Given the description of an element on the screen output the (x, y) to click on. 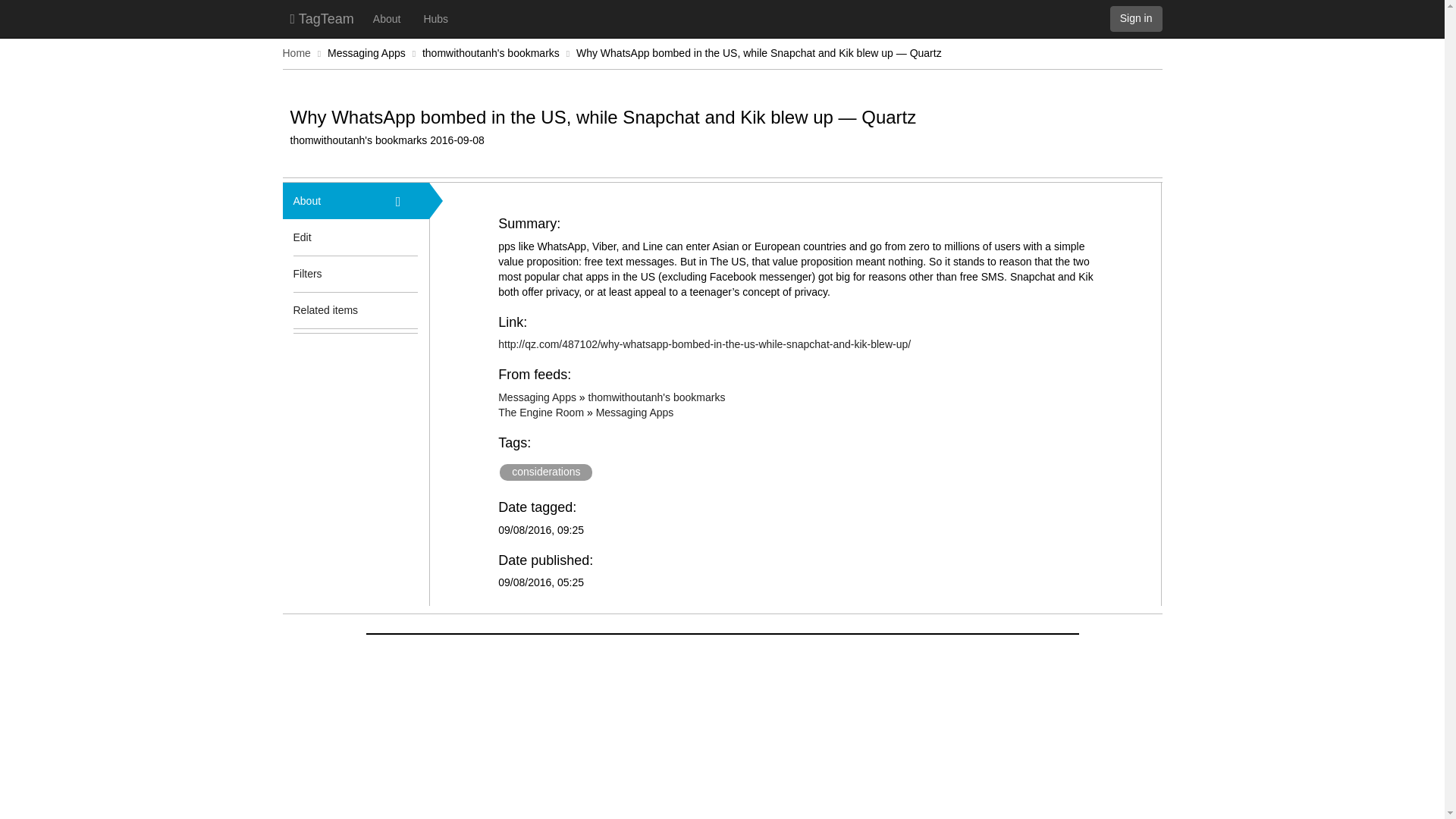
Item-level tag filters (407, 273)
Home (296, 52)
Messaging Apps (634, 412)
Related items (333, 309)
Edit (301, 237)
considerations (545, 472)
Sign in (1135, 18)
Filters (333, 273)
About (333, 200)
About (386, 18)
